Given the description of an element on the screen output the (x, y) to click on. 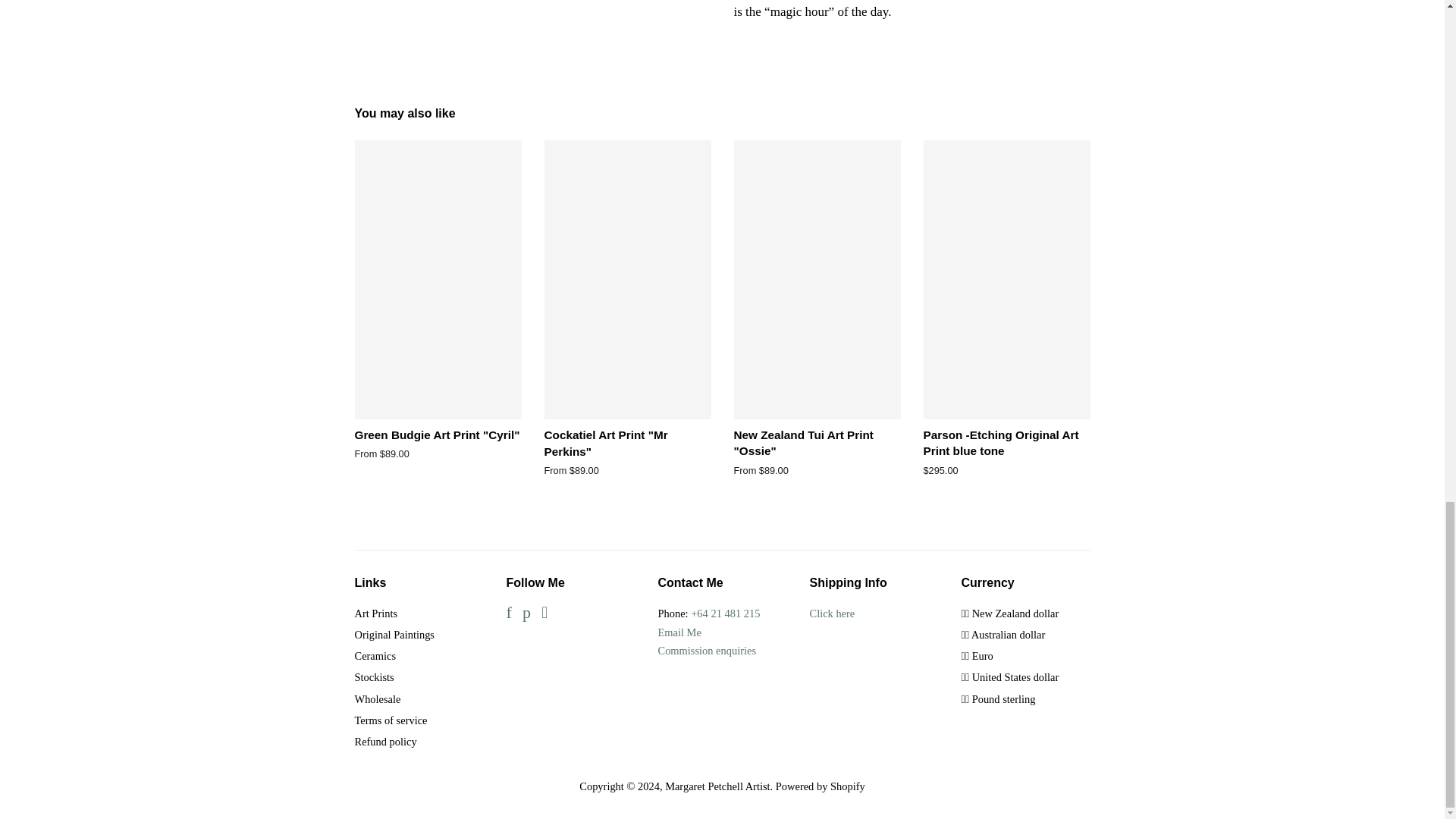
Shipping Policy (832, 613)
Margaret Petchell Artist on Facebook (509, 613)
Art Prints (376, 613)
Commission Enquiry (707, 650)
Margaret Petchell Artist on Pinterest (526, 613)
Contact Me (679, 632)
Margaret Petchell Artist on Instagram (544, 613)
